Given the description of an element on the screen output the (x, y) to click on. 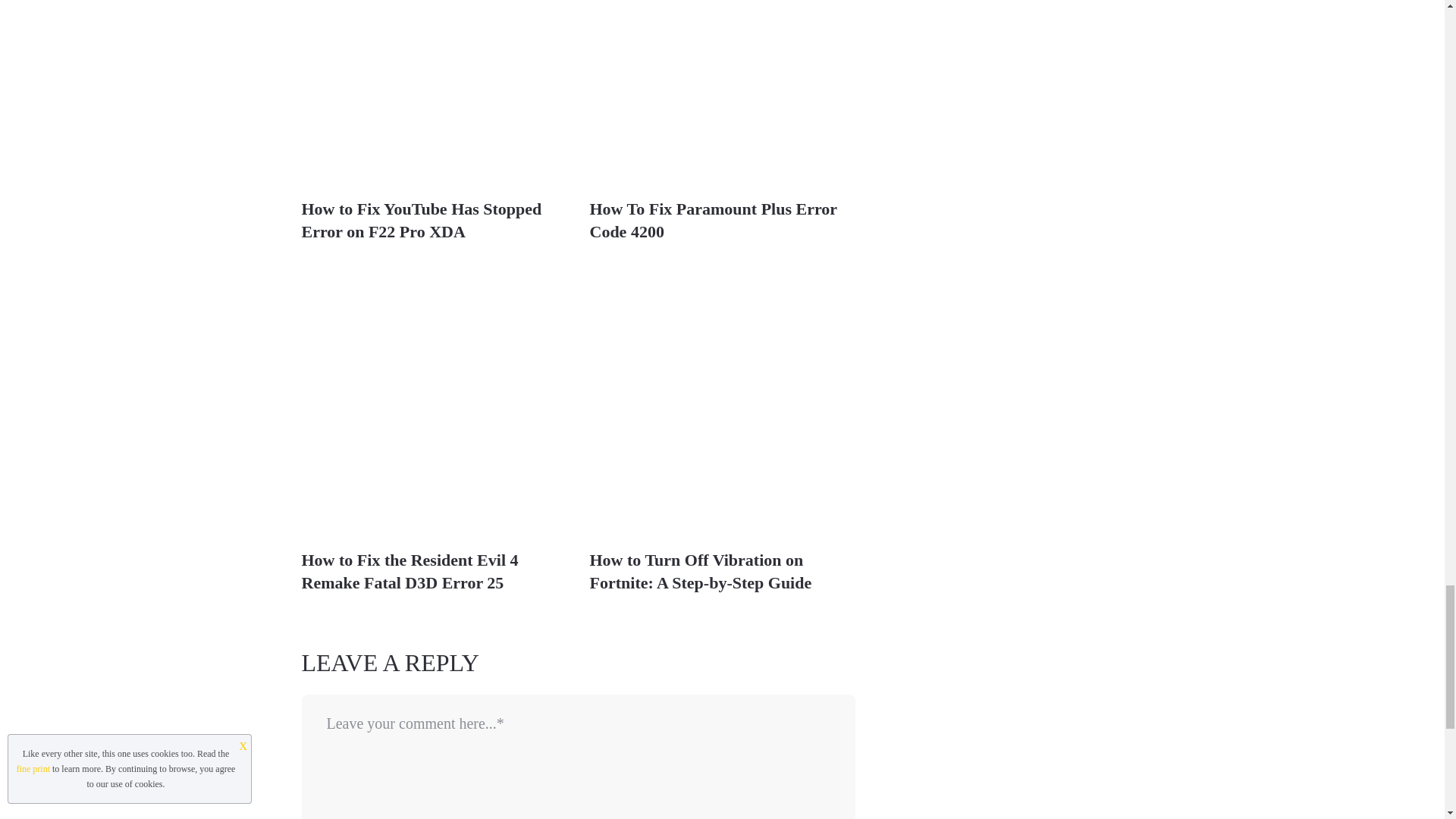
How to Turn Off Vibration on Fortnite: A Step-by-Step Guide (700, 571)
How to Fix YouTube Has Stopped Error on F22 Pro XDA (421, 219)
How to Turn Off Vibration on Fortnite: A Step-by-Step Guide (722, 404)
How to Fix YouTube Has Stopped Error on F22 Pro XDA (434, 92)
How to Fix the Resident Evil 4 Remake Fatal D3D Error 25 (409, 571)
How To Fix Paramount Plus Error Code 4200 (713, 219)
How To Fix Paramount Plus Error Code 4200 (722, 92)
How to Fix the Resident Evil 4 Remake Fatal D3D Error 25 (409, 571)
How to Fix YouTube Has Stopped Error on F22 Pro XDA (421, 219)
How to Fix the Resident Evil 4 Remake Fatal D3D Error 25 (434, 404)
How to Turn Off Vibration on Fortnite: A Step-by-Step Guide (700, 571)
How To Fix Paramount Plus Error Code 4200 (713, 219)
